Given the description of an element on the screen output the (x, y) to click on. 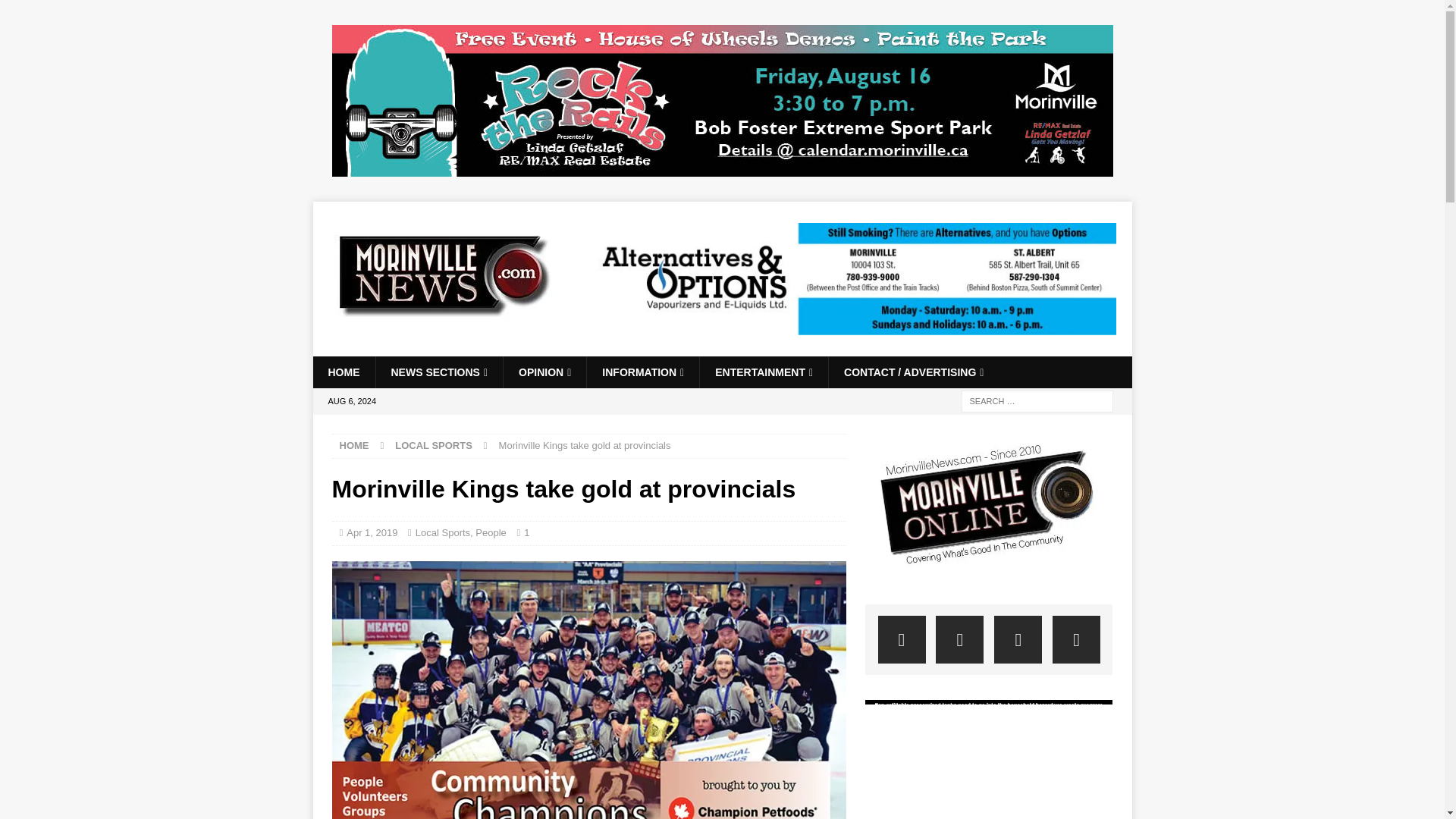
ENTERTAINMENT (763, 372)
Local Sports (442, 532)
Search (56, 11)
HOME (354, 445)
OPINION (544, 372)
INFORMATION (642, 372)
Apr 1, 2019 (371, 532)
HOME (343, 372)
NEWS SECTIONS (438, 372)
LOCAL SPORTS (432, 445)
2-CommunityChampions (588, 690)
